Given the description of an element on the screen output the (x, y) to click on. 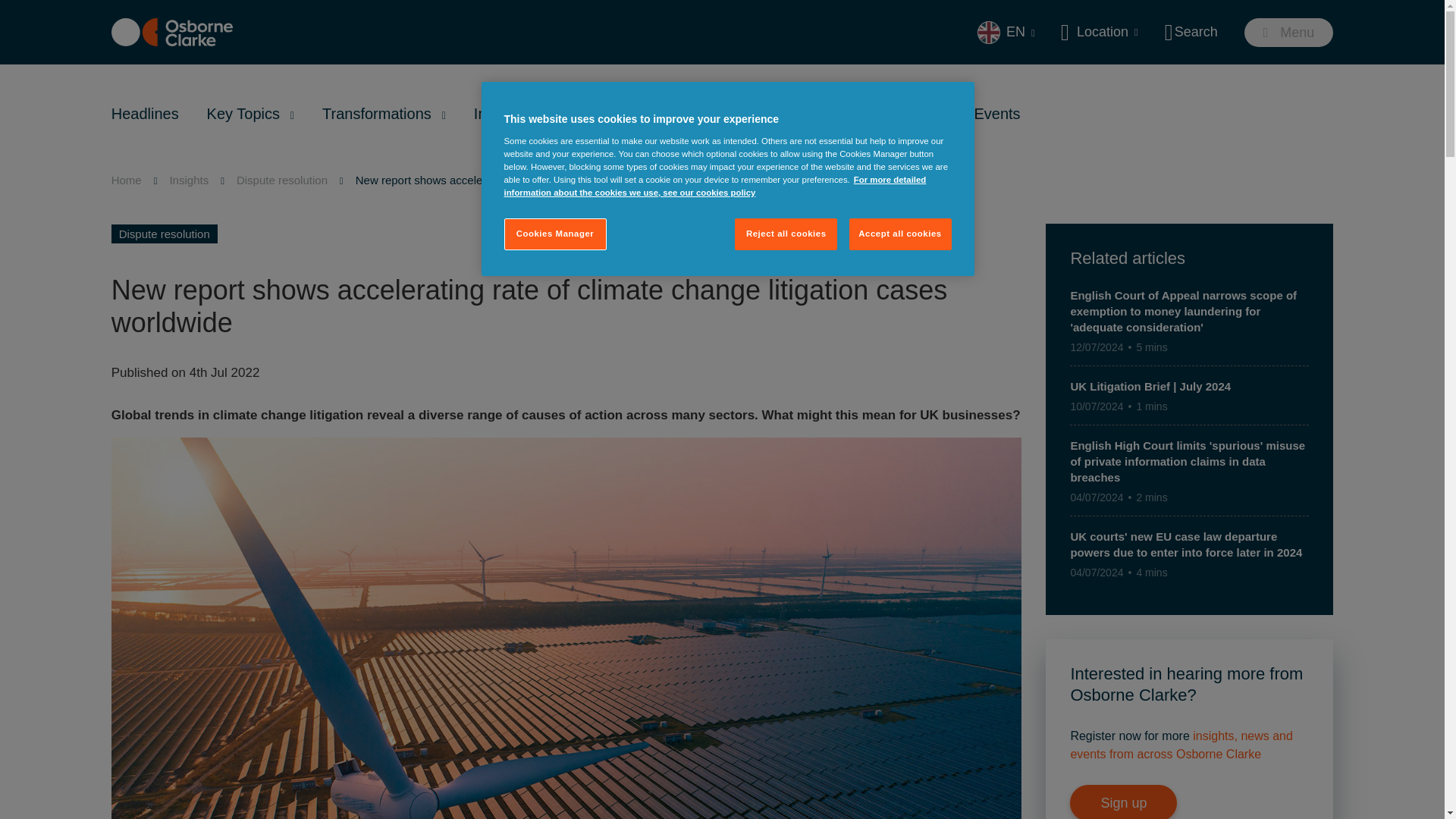
Osborne Clarke (172, 32)
Menu (1288, 32)
